Given the description of an element on the screen output the (x, y) to click on. 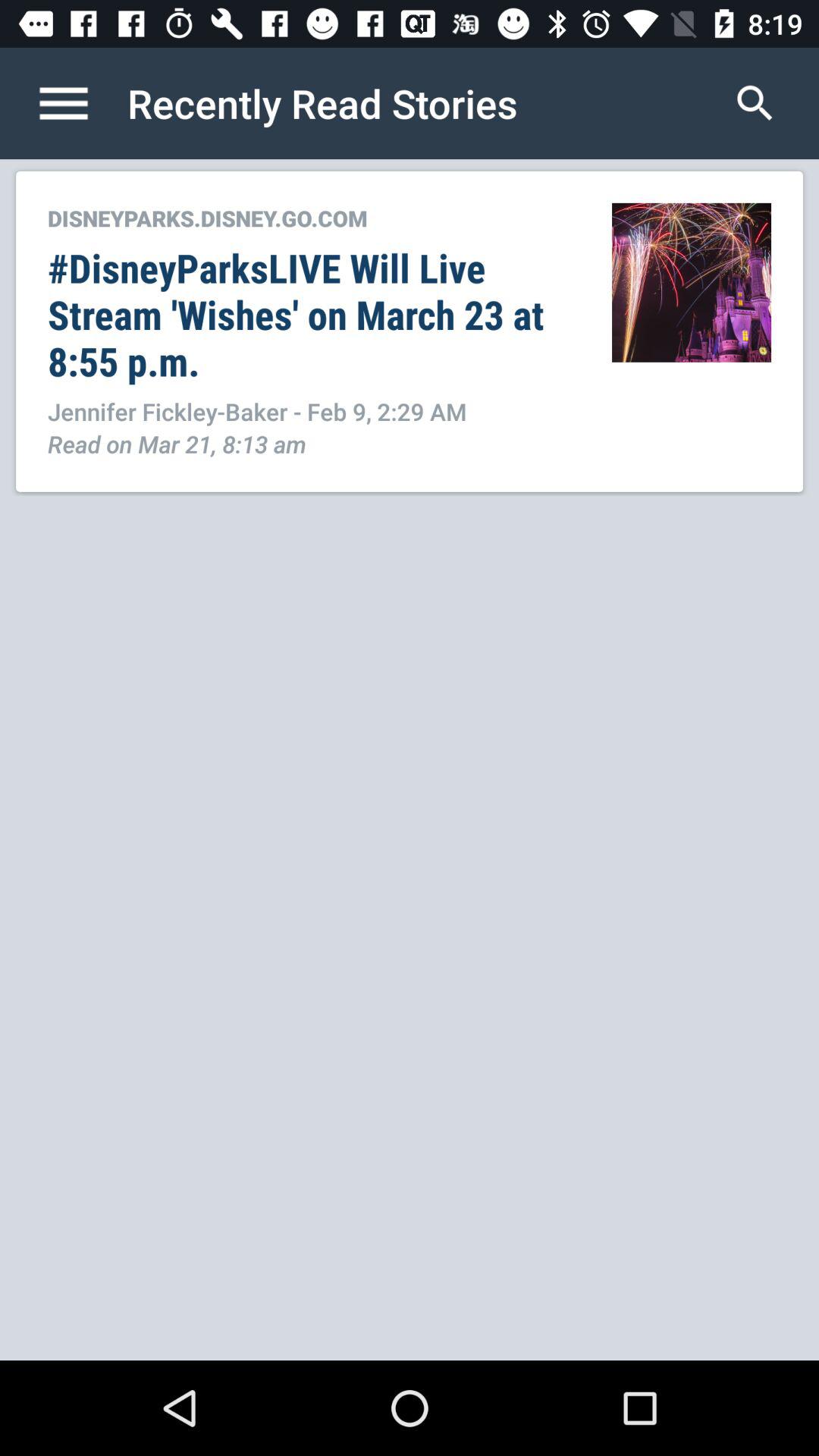
flip until jennifer fickley baker (313, 411)
